Given the description of an element on the screen output the (x, y) to click on. 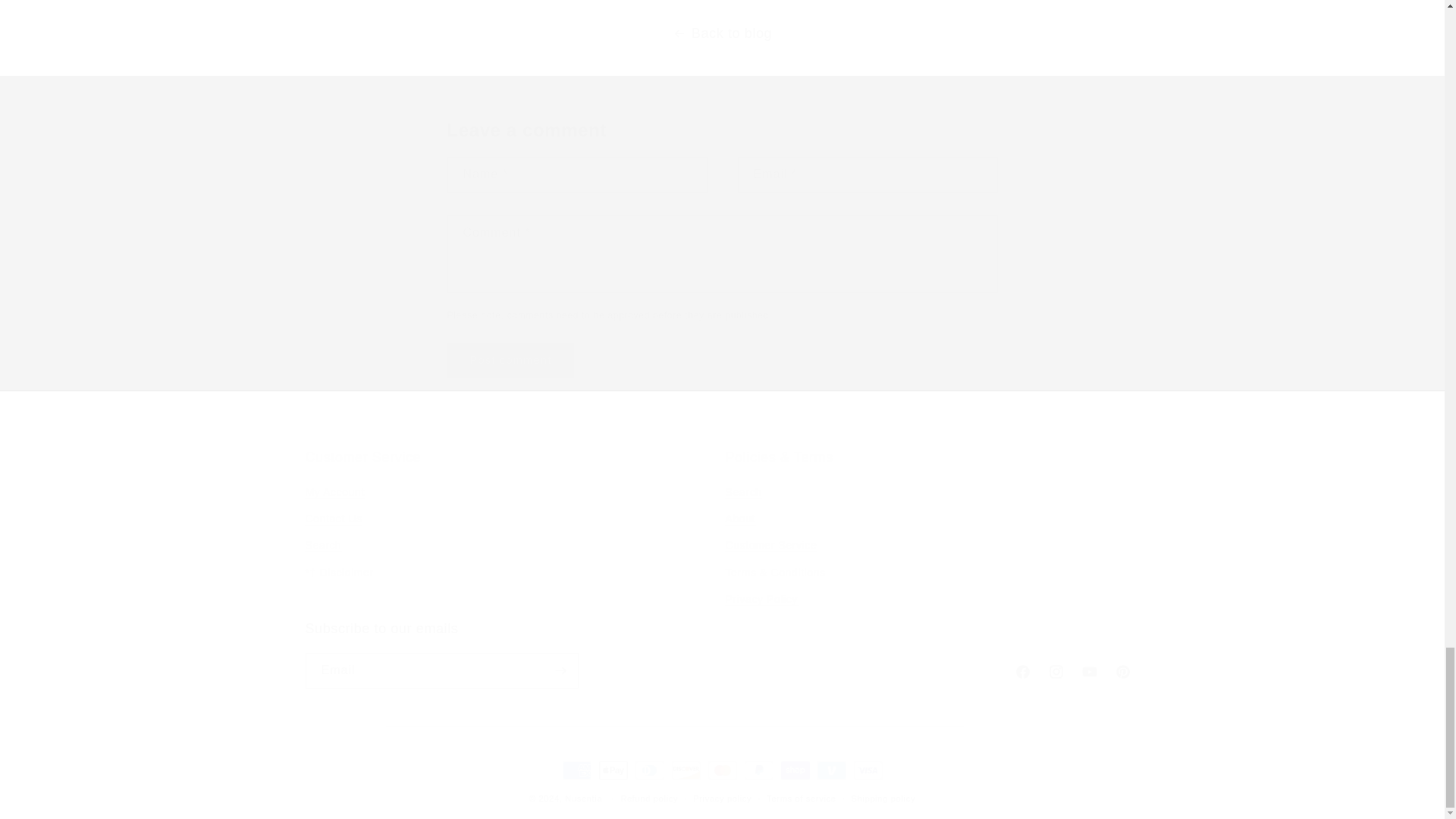
Post comment (510, 360)
